Given the description of an element on the screen output the (x, y) to click on. 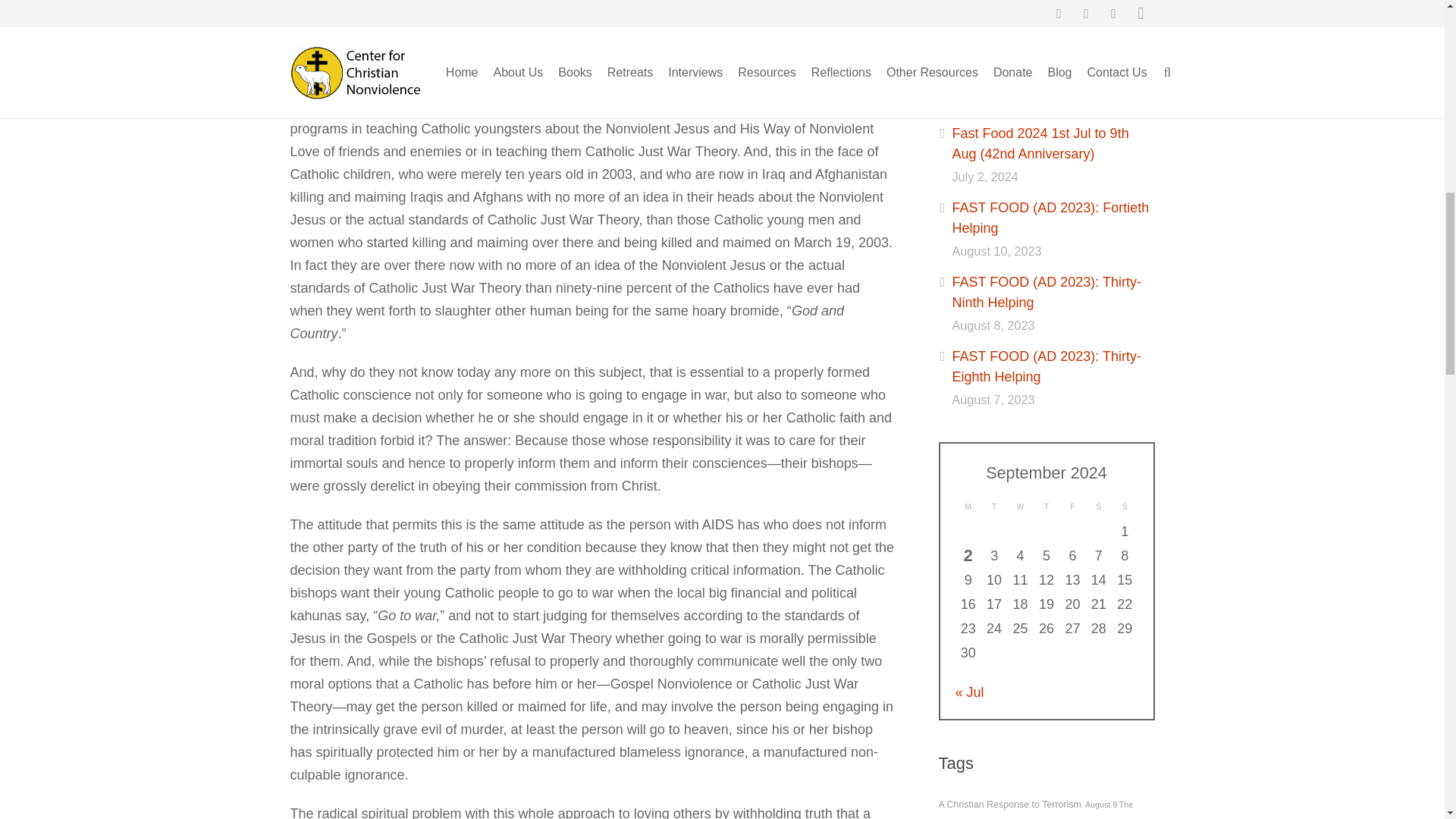
Thursday (1046, 507)
Wednesday (1019, 507)
Friday (1071, 507)
Monday (968, 507)
Sunday (1124, 507)
Back to top (1413, 22)
Tuesday (994, 507)
Saturday (1099, 507)
